Given the description of an element on the screen output the (x, y) to click on. 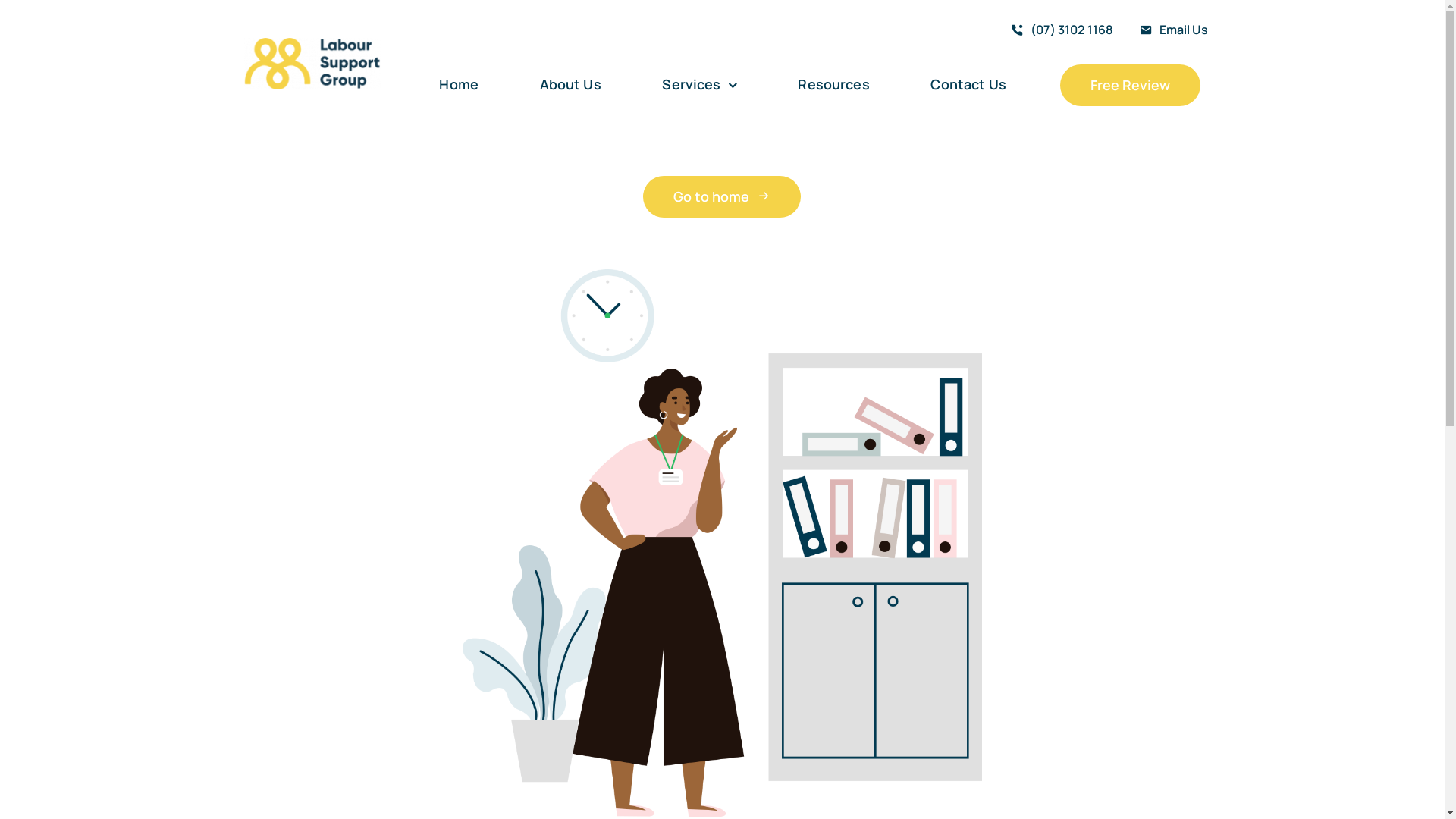
Free Review Element type: text (1130, 85)
Error 404 Element type: hover (722, 542)
Email Us Element type: text (1169, 30)
(07) 3102 1168 Element type: text (1058, 30)
Go to home Element type: text (721, 196)
About Us Element type: text (570, 85)
Resources Element type: text (833, 85)
Contact Us Element type: text (967, 85)
Services Element type: text (698, 85)
Home Element type: text (458, 85)
